Given the description of an element on the screen output the (x, y) to click on. 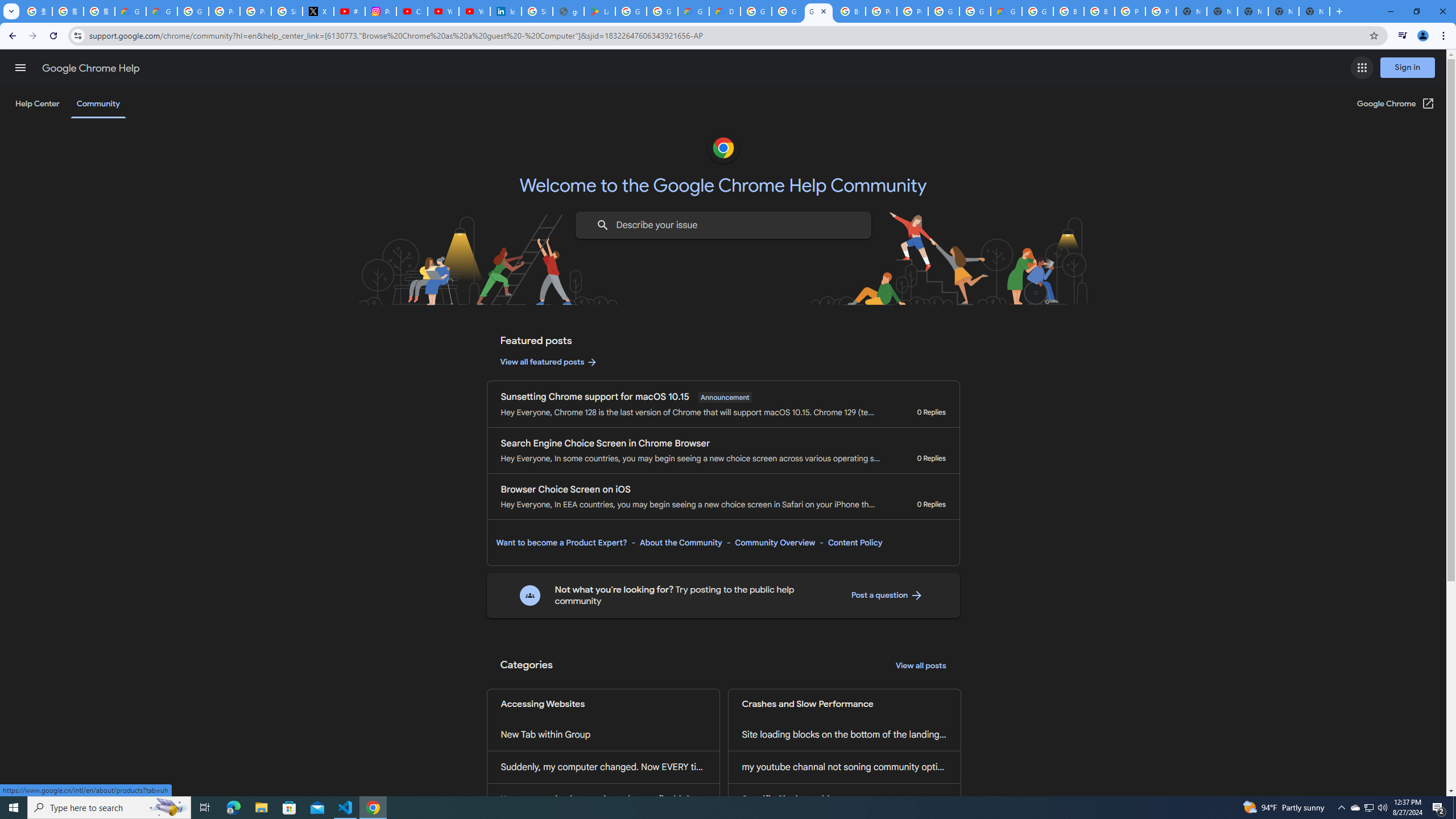
About the Community (680, 542)
Government | Google Cloud (693, 11)
Community (97, 103)
Community Overview (775, 542)
Want to become a Product Expert? (561, 542)
Google Cloud Platform (974, 11)
Browse Chrome as a guest - Computer - Google Chrome Help (1068, 11)
Describe your issue to find information that might help you. (722, 225)
Main menu (20, 67)
Last Shelter: Survival - Apps on Google Play (599, 11)
